Given the description of an element on the screen output the (x, y) to click on. 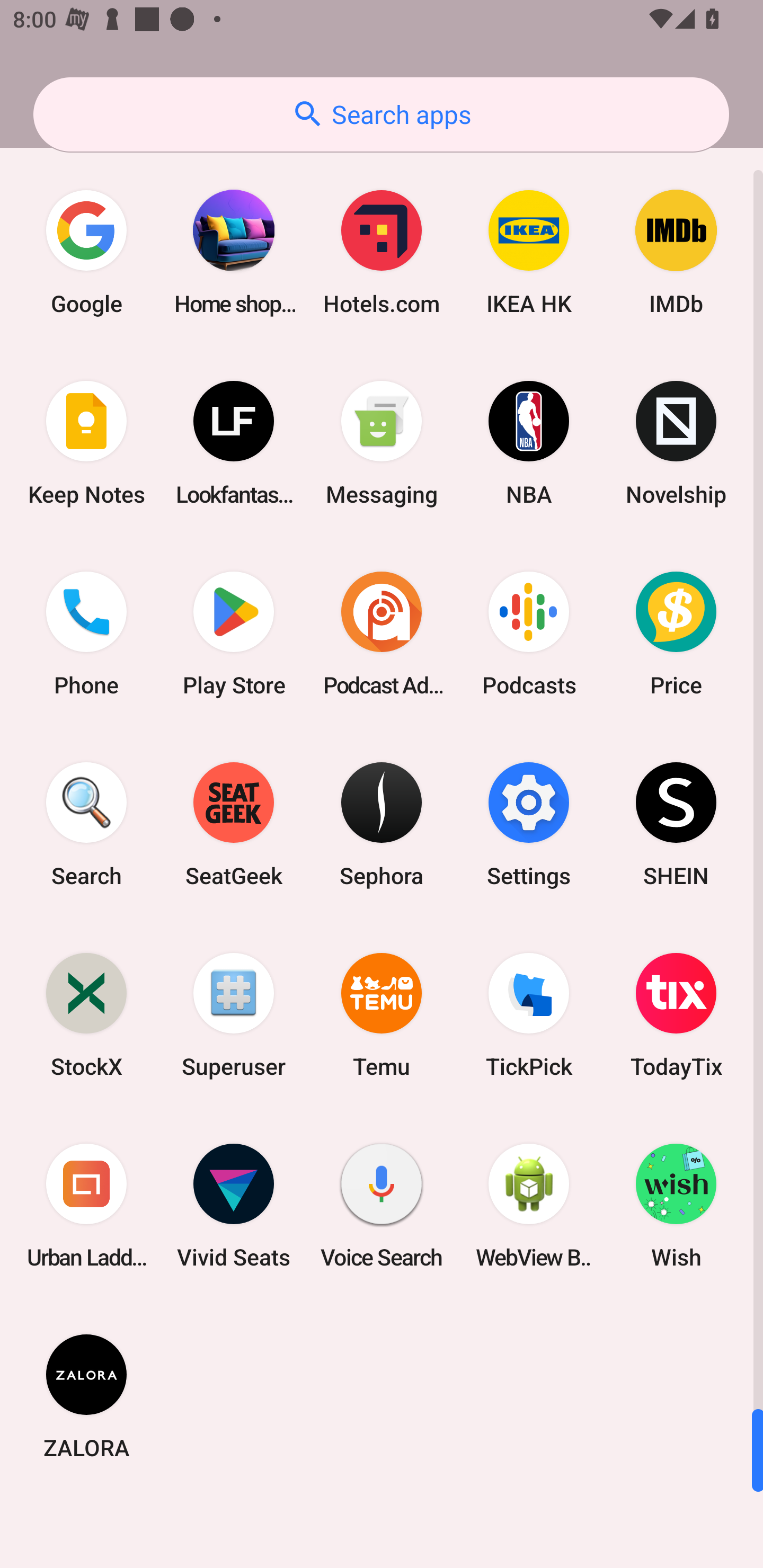
  Search apps (381, 114)
Google (86, 252)
Home shopping (233, 252)
Hotels.com (381, 252)
IKEA HK (528, 252)
IMDb (676, 252)
Keep Notes (86, 442)
Lookfantastic (233, 442)
Messaging (381, 442)
NBA (528, 442)
Novelship (676, 442)
Phone (86, 633)
Play Store (233, 633)
Podcast Addict (381, 633)
Podcasts (528, 633)
Price (676, 633)
Search (86, 823)
SeatGeek (233, 823)
Sephora (381, 823)
Settings (528, 823)
SHEIN (676, 823)
StockX (86, 1014)
Superuser (233, 1014)
Temu (381, 1014)
TickPick (528, 1014)
TodayTix (676, 1014)
Urban Ladder (86, 1205)
Vivid Seats (233, 1205)
Voice Search (381, 1205)
WebView Browser Tester (528, 1205)
Wish (676, 1205)
ZALORA (86, 1396)
